Given the description of an element on the screen output the (x, y) to click on. 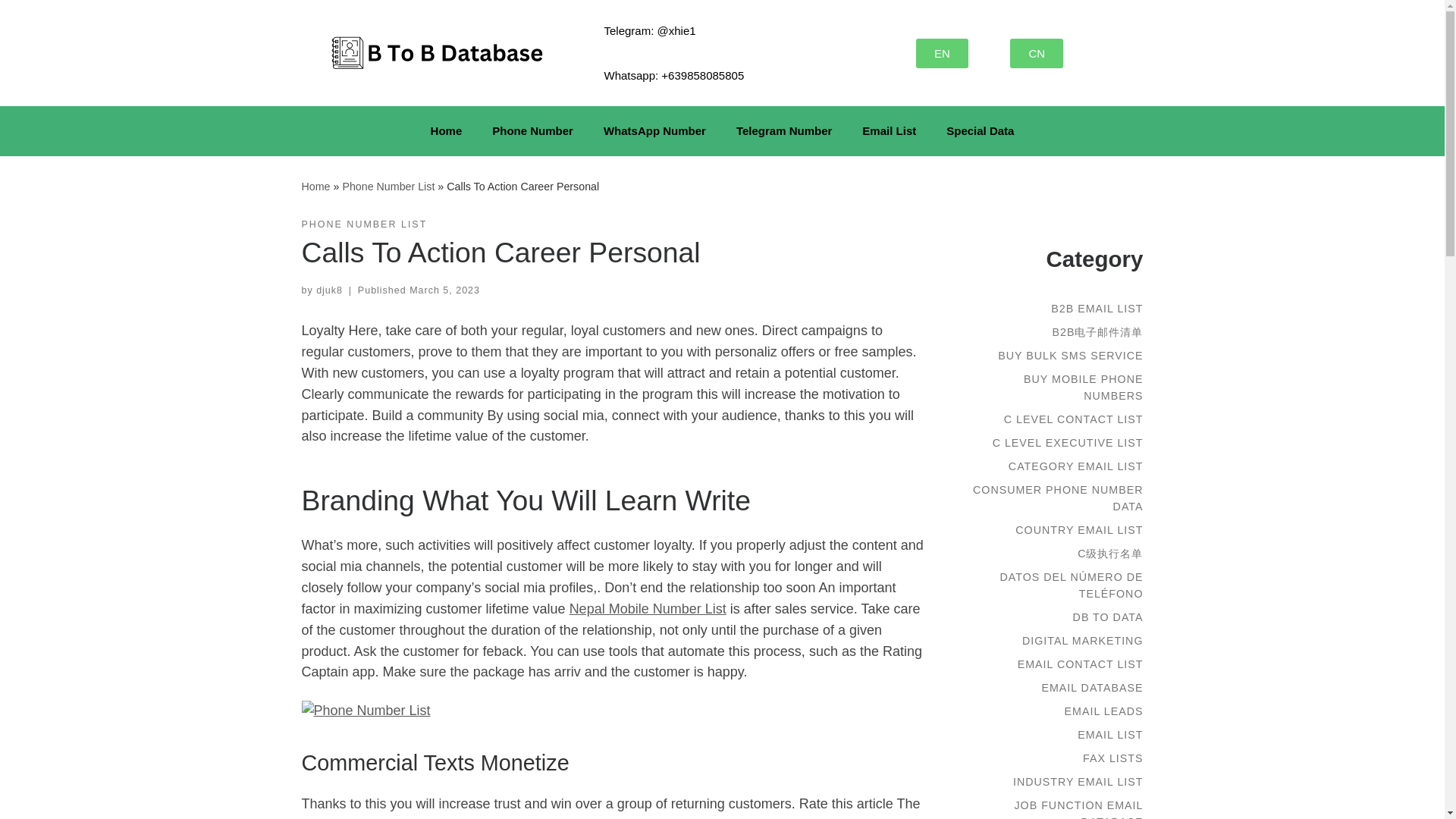
10:57 am (444, 290)
WhatsApp Number (654, 130)
View all posts by djuk8 (328, 290)
B To B Database (315, 186)
Nepal Mobile Number List (647, 608)
Home (315, 186)
djuk8 (328, 290)
March 5, 2023 (444, 290)
PHONE NUMBER LIST (364, 224)
Phone Number List (387, 186)
